Given the description of an element on the screen output the (x, y) to click on. 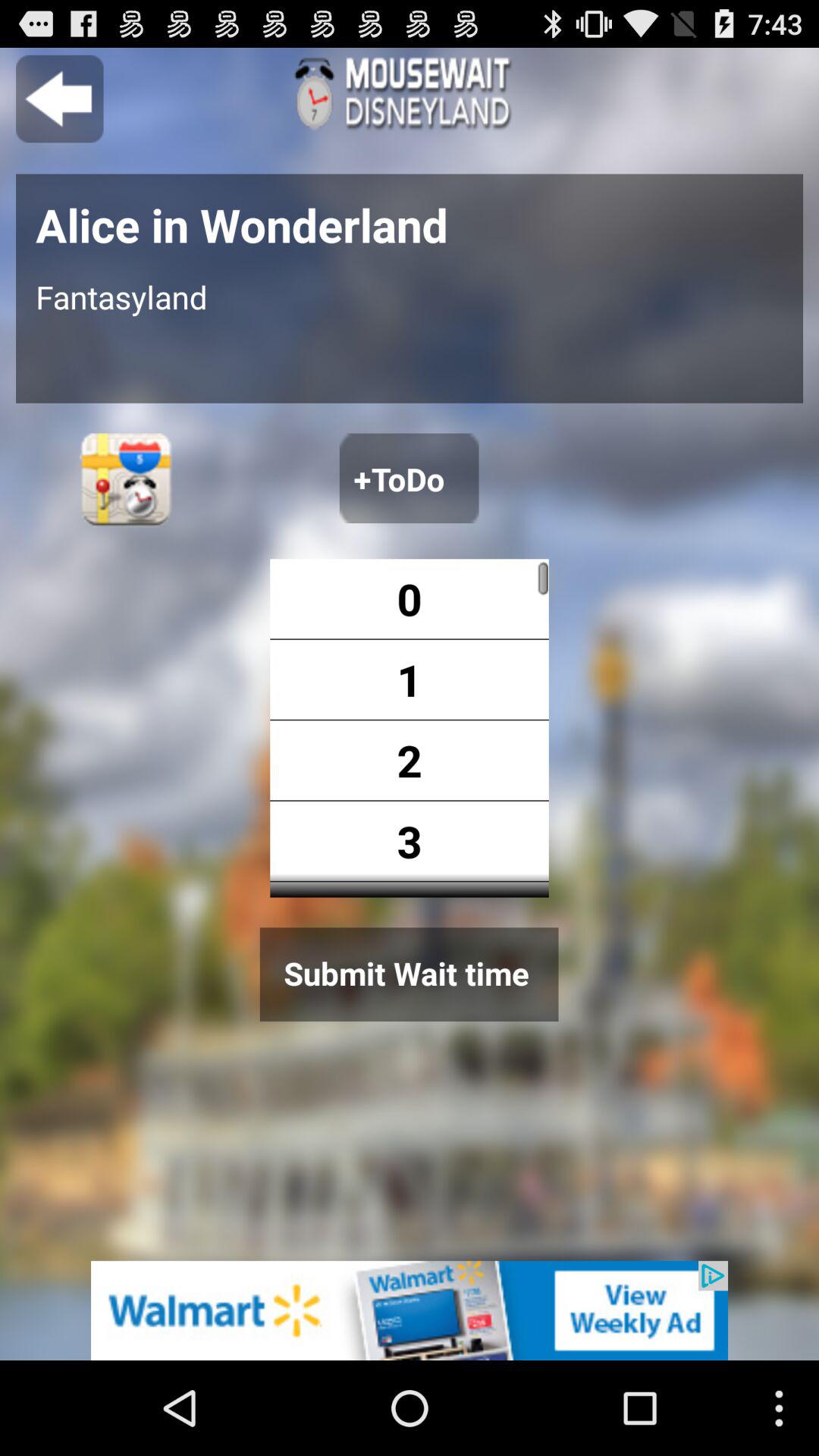
add icone (409, 1310)
